Given the description of an element on the screen output the (x, y) to click on. 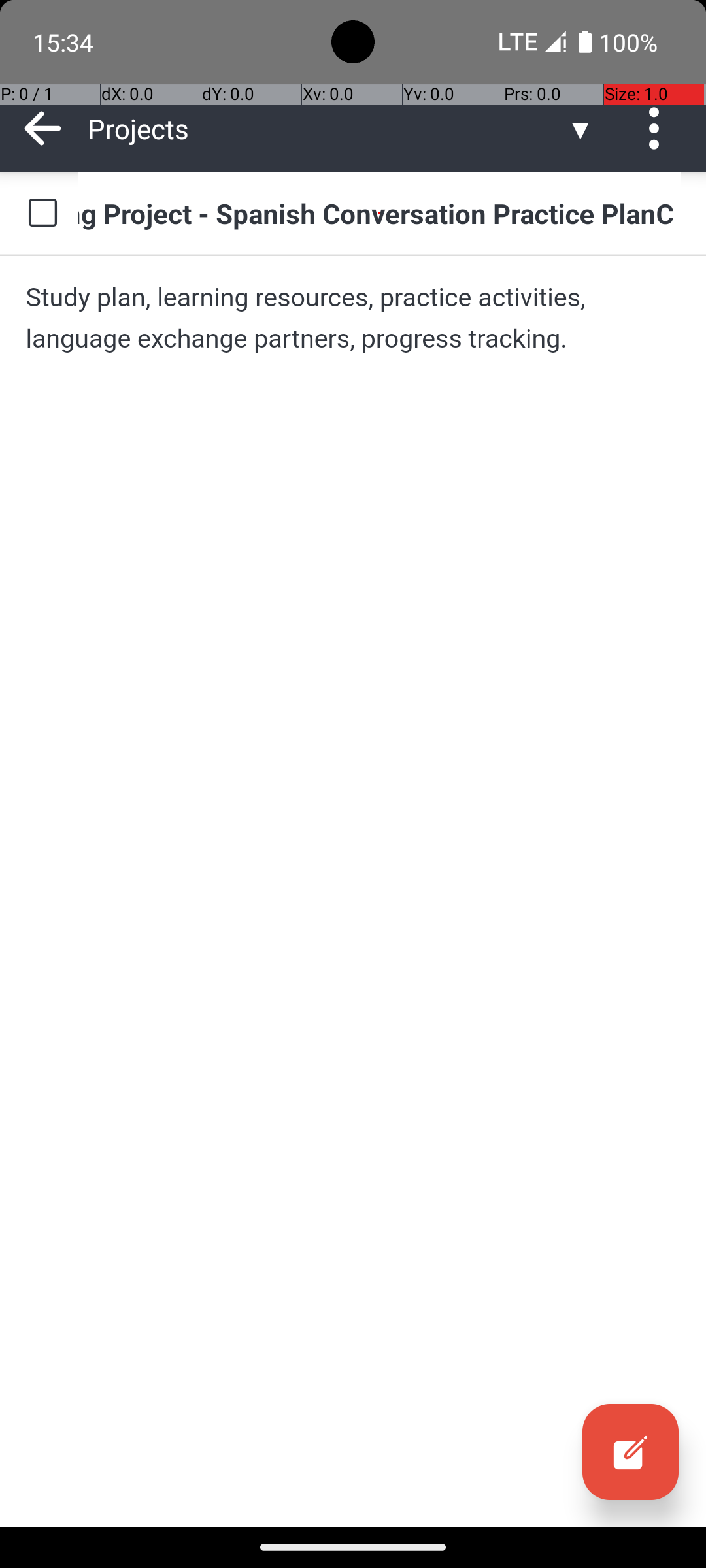
Language Learning Project - Spanish Conversation Practice PlanConversational Spanish Element type: android.widget.EditText (378, 213)
Study plan, learning resources, practice activities, language exchange partners, progress tracking. Element type: android.widget.TextView (352, 317)
